Given the description of an element on the screen output the (x, y) to click on. 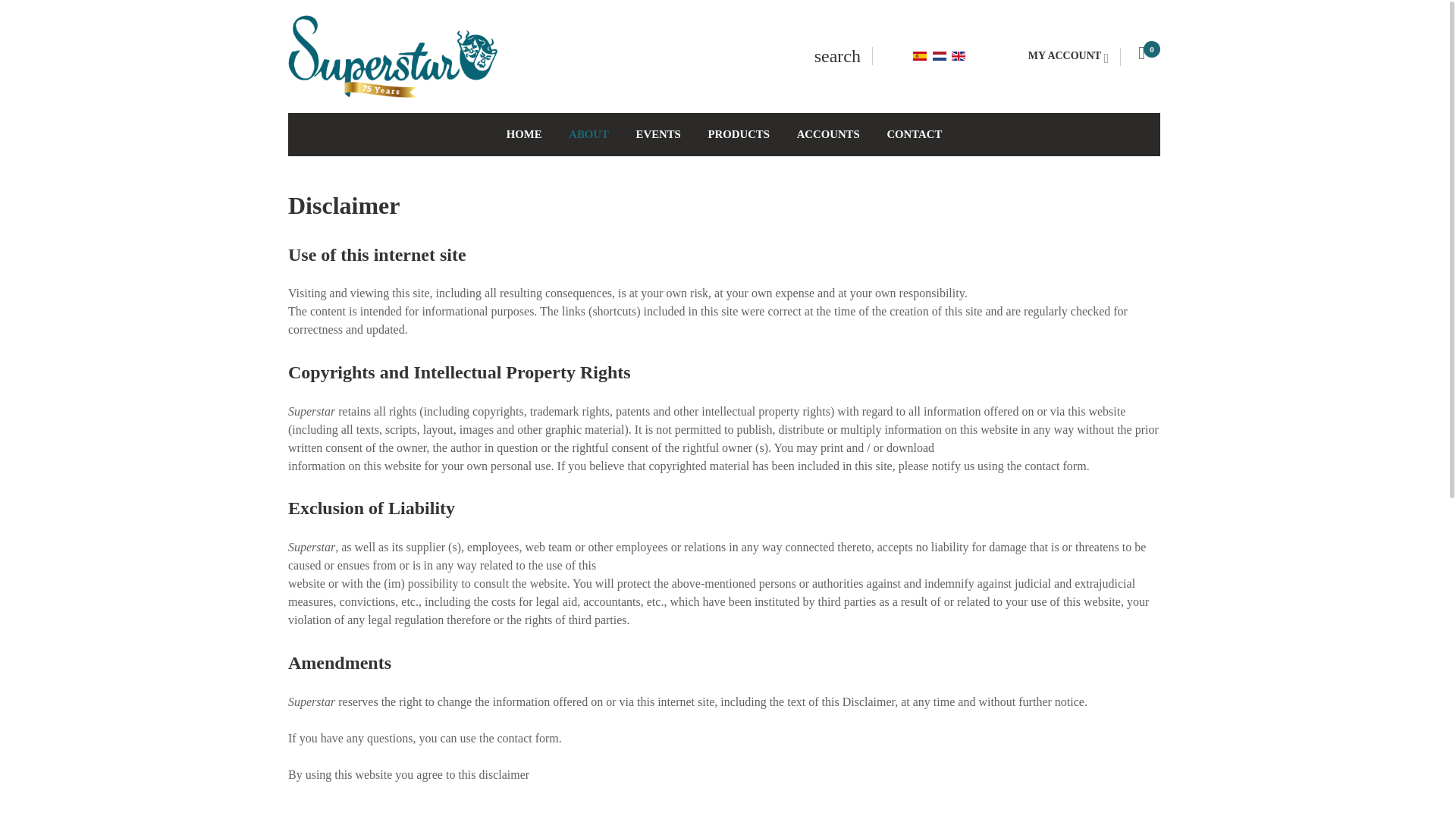
PRODUCTS (727, 134)
search (836, 55)
CONTACT (901, 134)
0 (1149, 53)
HOME (511, 134)
Nederlands (939, 55)
English (958, 55)
